Given the description of an element on the screen output the (x, y) to click on. 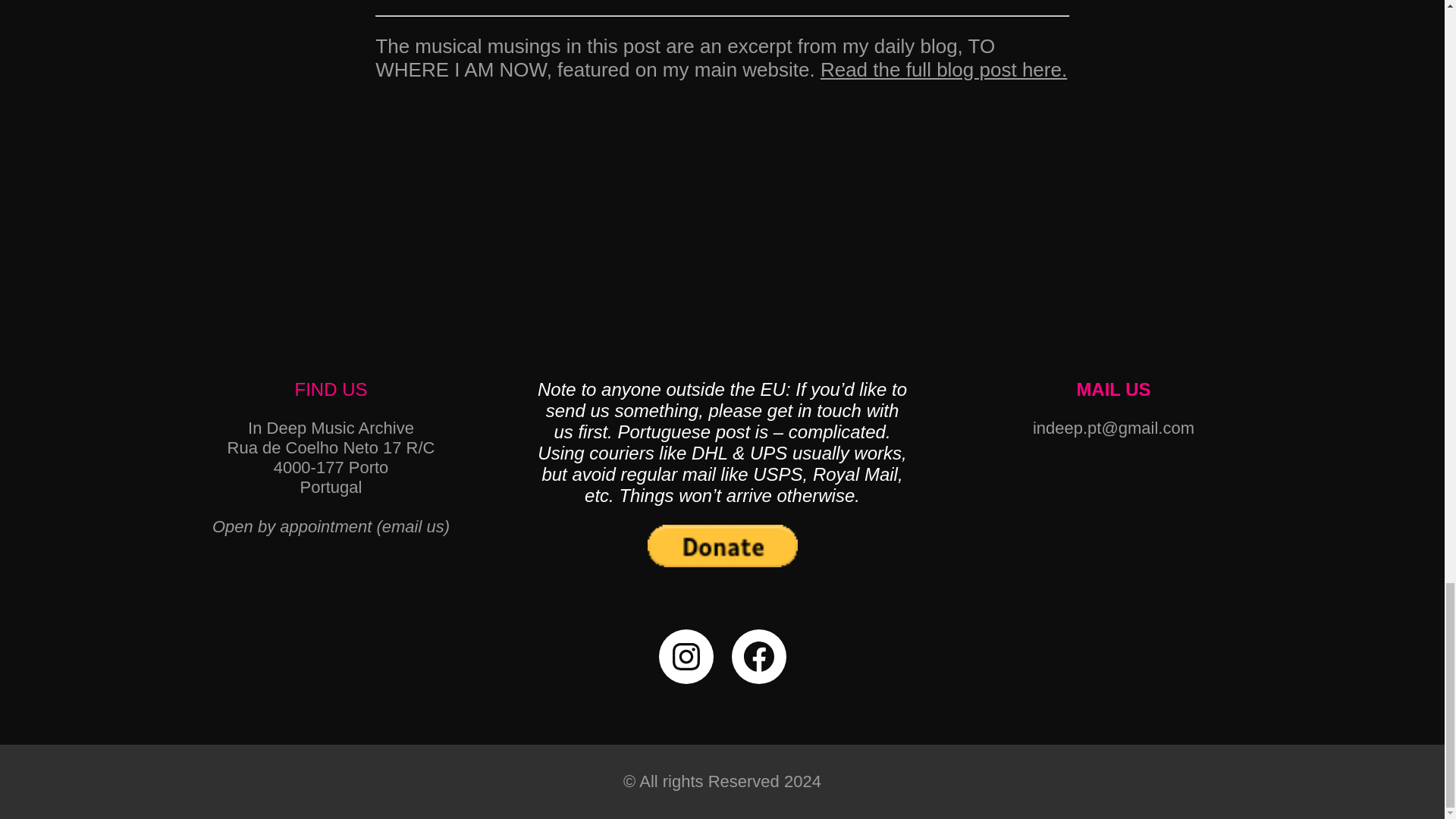
PayPal - The safer, easier way to pay online! (722, 545)
Read the full blog post here. (944, 69)
Facebook (758, 656)
Instagram (685, 656)
